Given the description of an element on the screen output the (x, y) to click on. 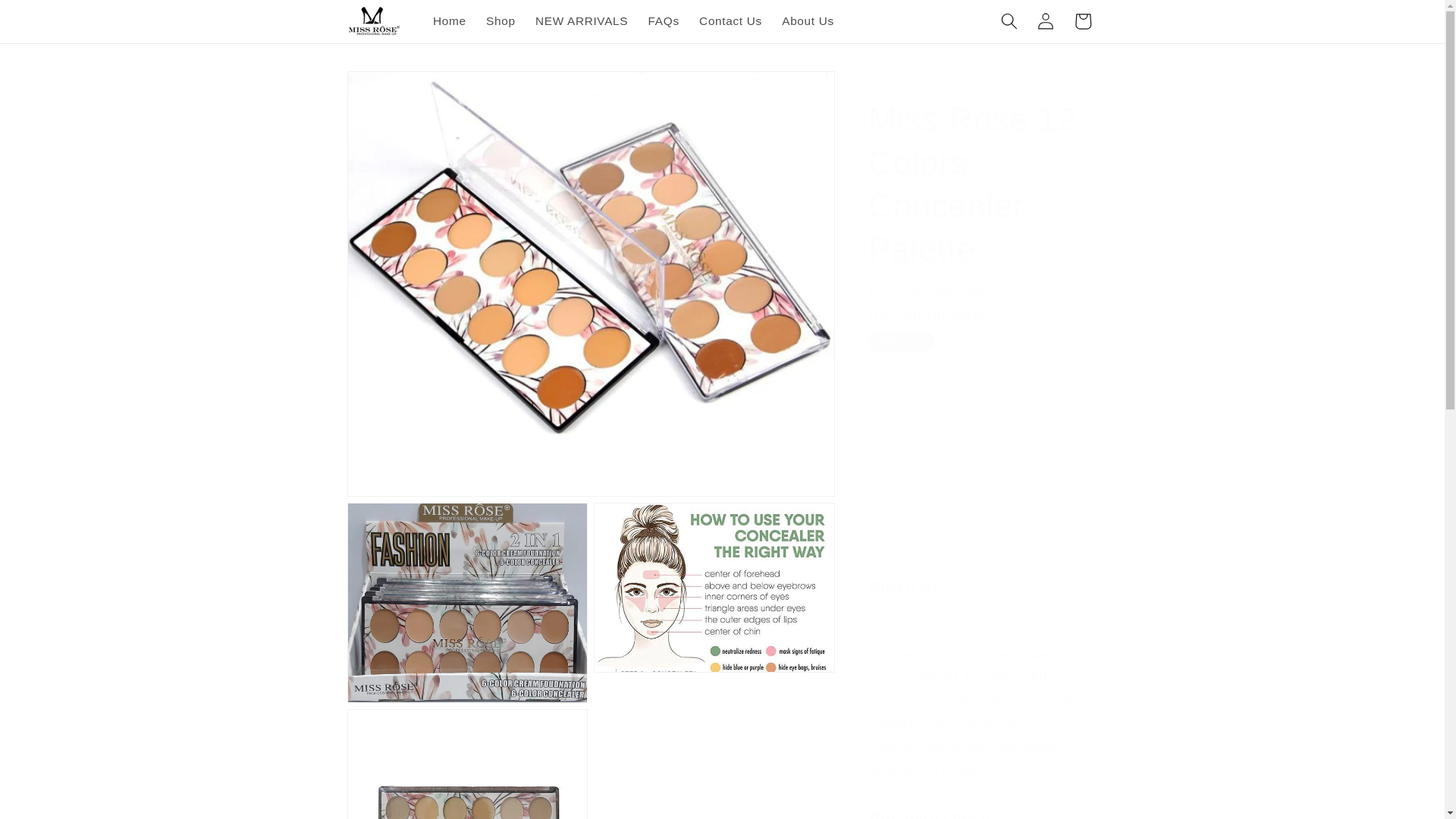
FAQs (662, 21)
Open media 2 in modal (467, 602)
Shop (500, 21)
Skip to product information (396, 88)
Open media 3 in modal (714, 602)
Sold out (982, 486)
Shipping (889, 365)
Contact Us (729, 21)
Log in (1045, 21)
